Given the description of an element on the screen output the (x, y) to click on. 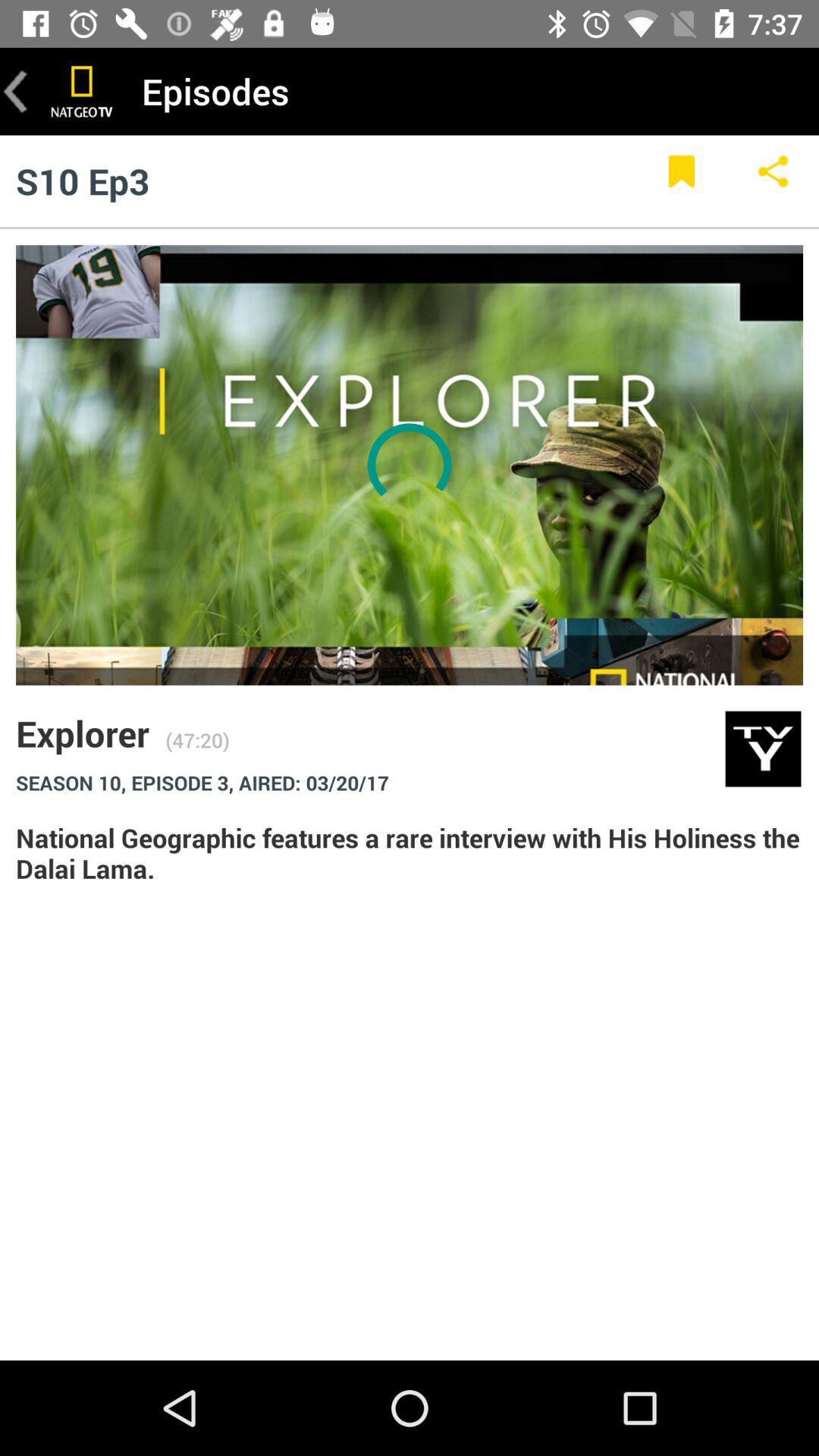
share the article (773, 180)
